Given the description of an element on the screen output the (x, y) to click on. 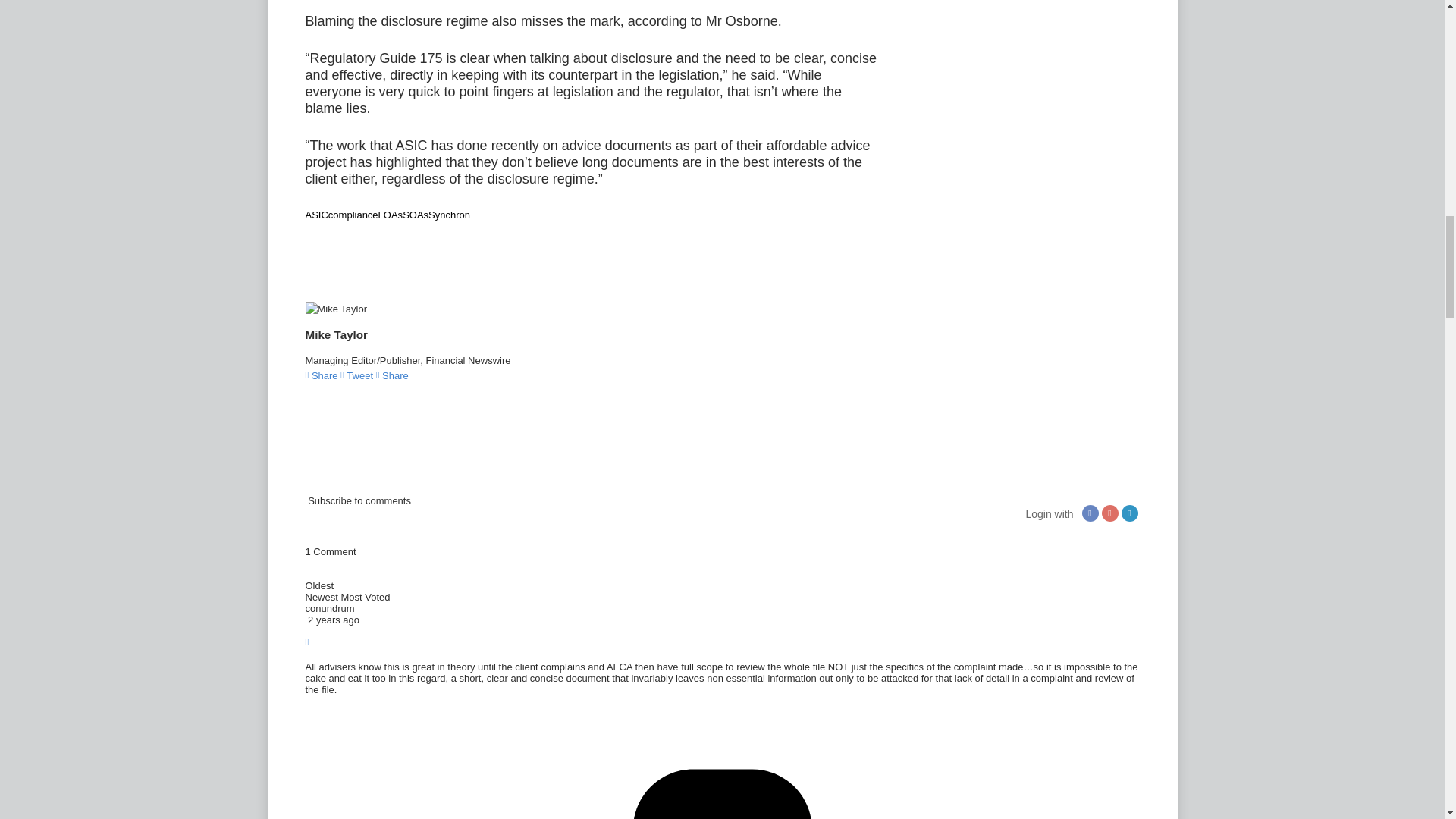
LOAs (390, 214)
Synchron (449, 214)
ASIC (315, 214)
Tweet this (357, 375)
SOAs (415, 214)
Share this (392, 375)
Share this (322, 375)
compliance (353, 214)
